Given the description of an element on the screen output the (x, y) to click on. 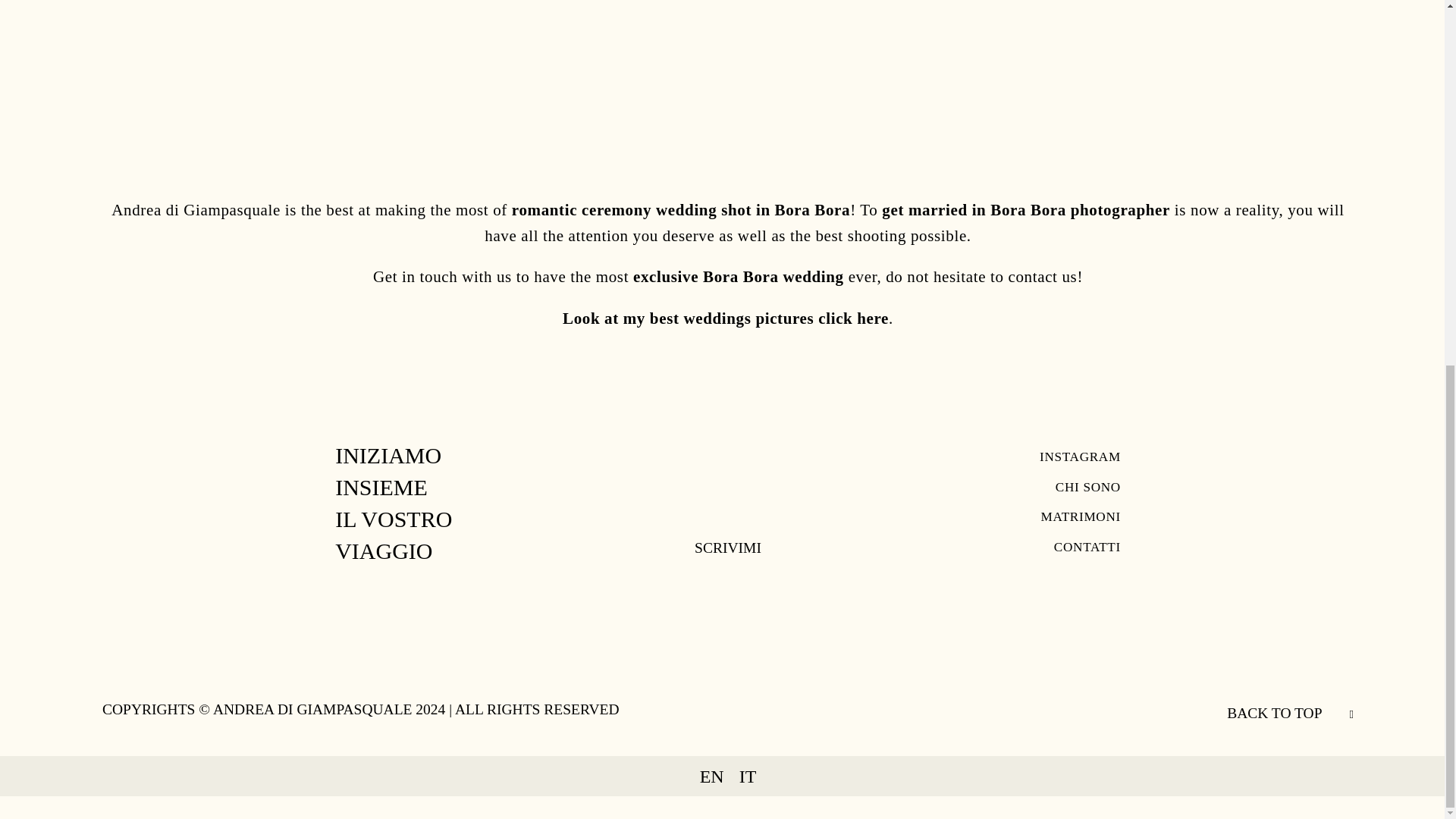
SCRIVIMI (727, 548)
INSTAGRAM (1080, 457)
CHI SONO (1088, 487)
MATRIMONI (1081, 517)
CONTATTI (1087, 547)
click here. (855, 318)
BACK TO TOP (1290, 712)
contact us (1043, 276)
EN (712, 776)
IT (748, 776)
BACK TO TOP (1274, 713)
